Given the description of an element on the screen output the (x, y) to click on. 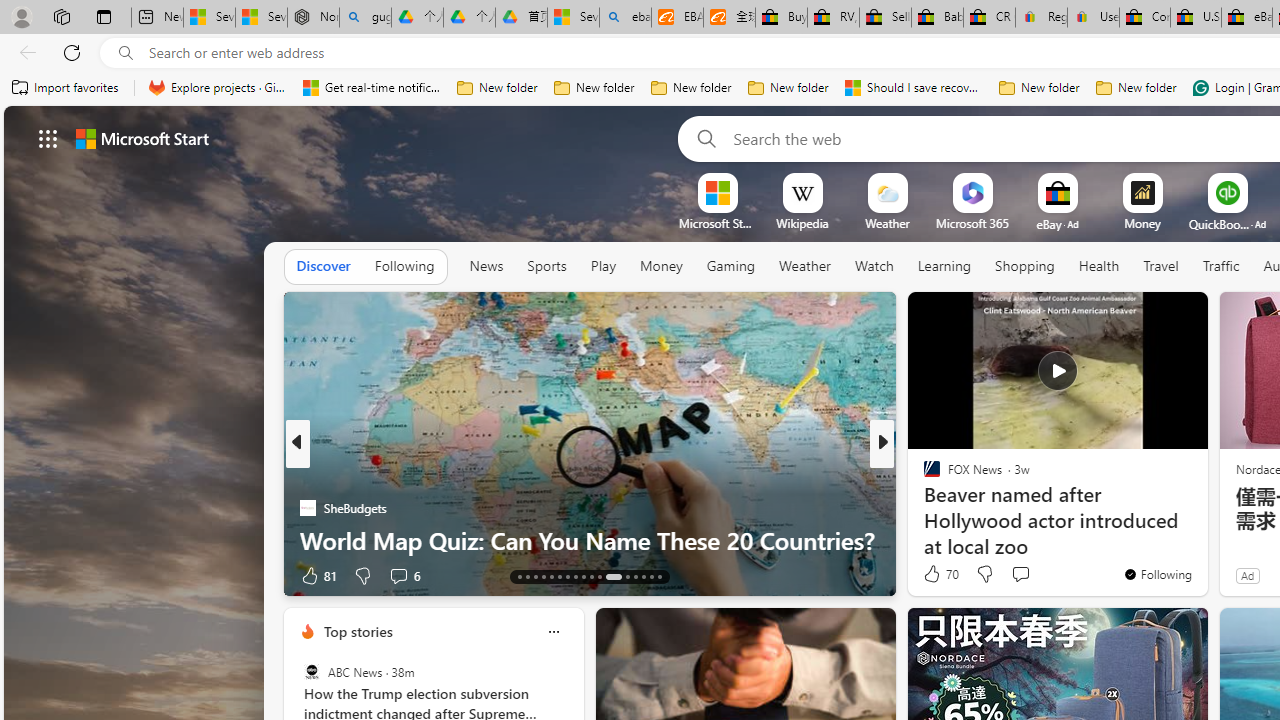
Shopping (1025, 267)
Discover (323, 267)
Play (602, 265)
Real Wild (923, 507)
Gaming (730, 265)
Microsoft Start Sports (717, 223)
Travel (1160, 267)
ABC News (311, 672)
See more (1183, 315)
SlashGear (923, 507)
AutomationID: tab-25 (627, 576)
World Map Quiz: Can You Name These 20 Countries? (589, 539)
News (485, 267)
